Given the description of an element on the screen output the (x, y) to click on. 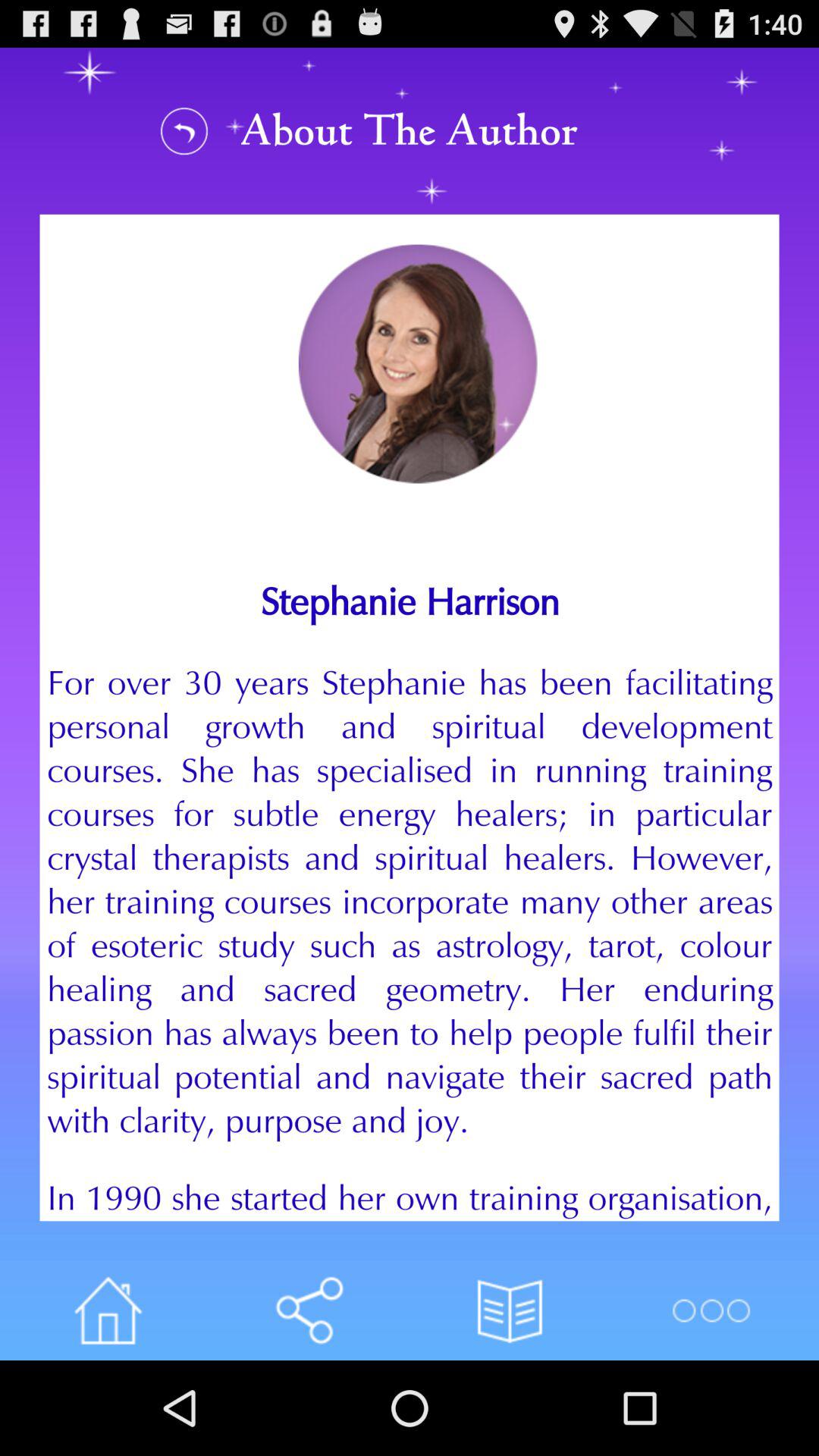
home button (107, 1310)
